Given the description of an element on the screen output the (x, y) to click on. 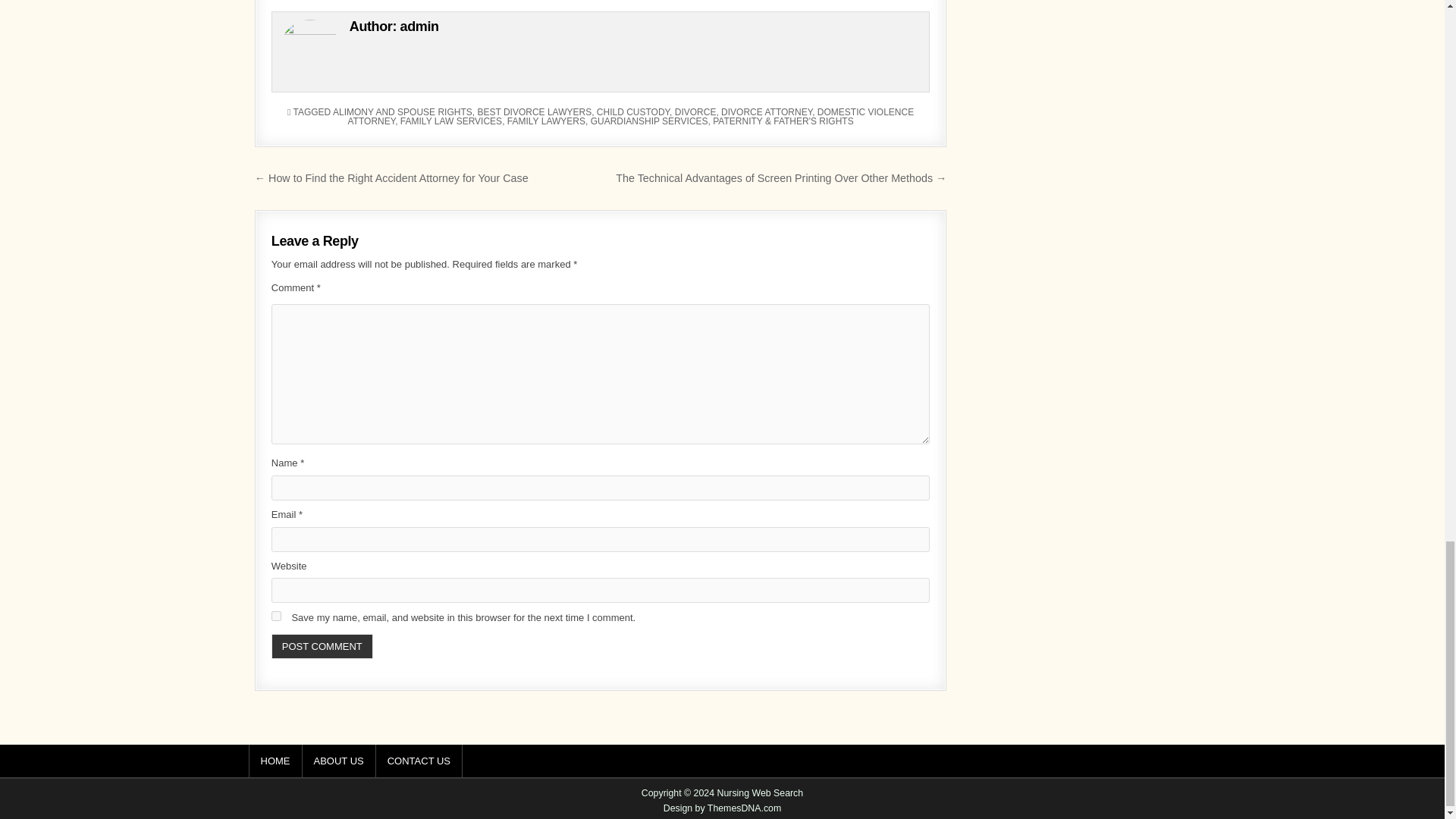
HOME (275, 760)
BEST DIVORCE LAWYERS (534, 112)
admin (419, 26)
GUARDIANSHIP SERVICES (649, 121)
Post Comment (321, 646)
Post Comment (321, 646)
CHILD CUSTODY (632, 112)
FAMILY LAWYERS (545, 121)
Design by ThemesDNA.com (722, 808)
DOMESTIC VIOLENCE ATTORNEY (630, 116)
ALIMONY AND SPOUSE RIGHTS (402, 112)
ABOUT US (338, 760)
CONTACT US (419, 760)
FAMILY LAW SERVICES (451, 121)
